Given the description of an element on the screen output the (x, y) to click on. 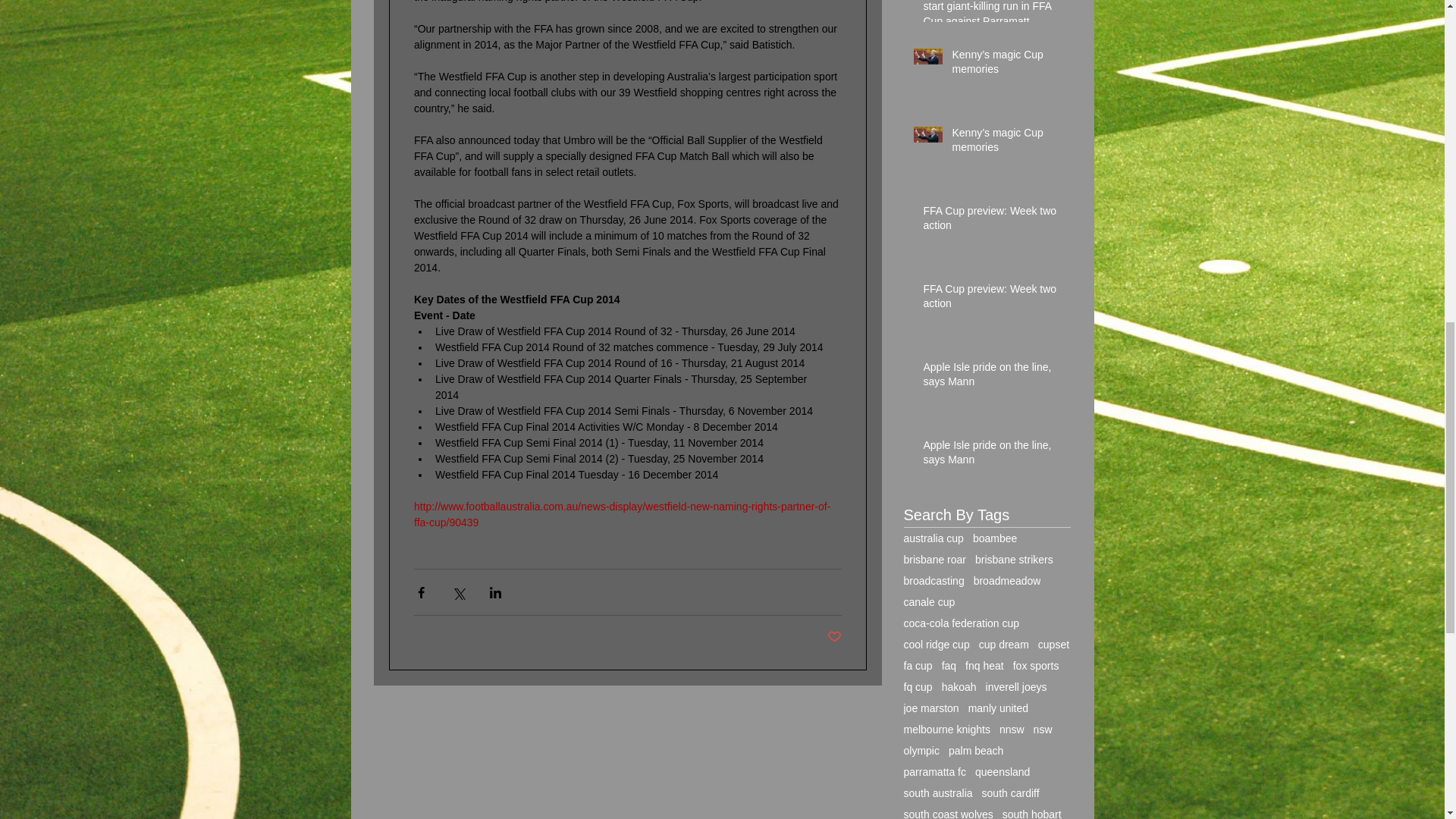
brisbane strikers (1013, 559)
cupset (1053, 644)
manly united (997, 707)
boambee (994, 538)
faq (949, 665)
canale cup (929, 602)
coca-cola federation cup (962, 623)
cup dream (1003, 644)
Apple Isle pride on the line, says Mann (992, 456)
Apple Isle pride on the line, says Mann (992, 377)
